Given the description of an element on the screen output the (x, y) to click on. 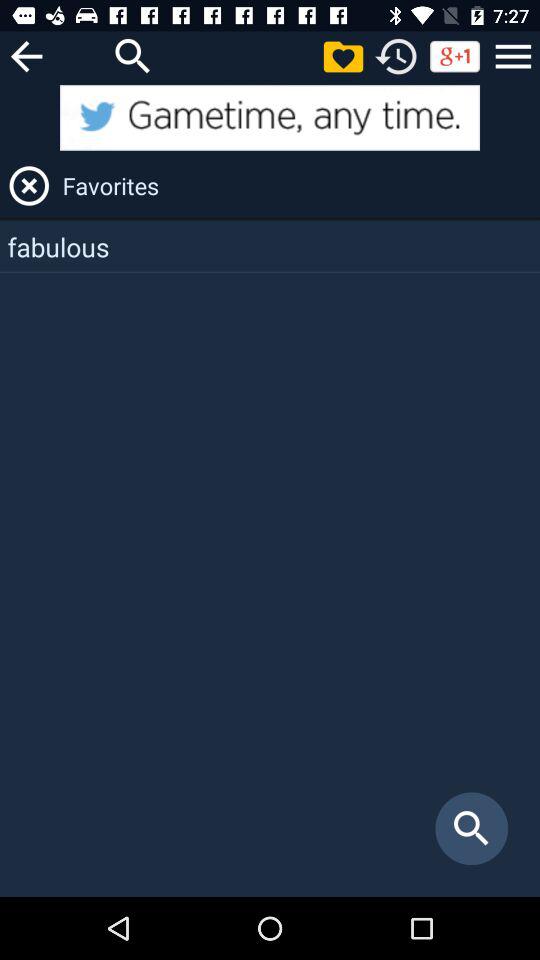
twitter page (270, 117)
